Given the description of an element on the screen output the (x, y) to click on. 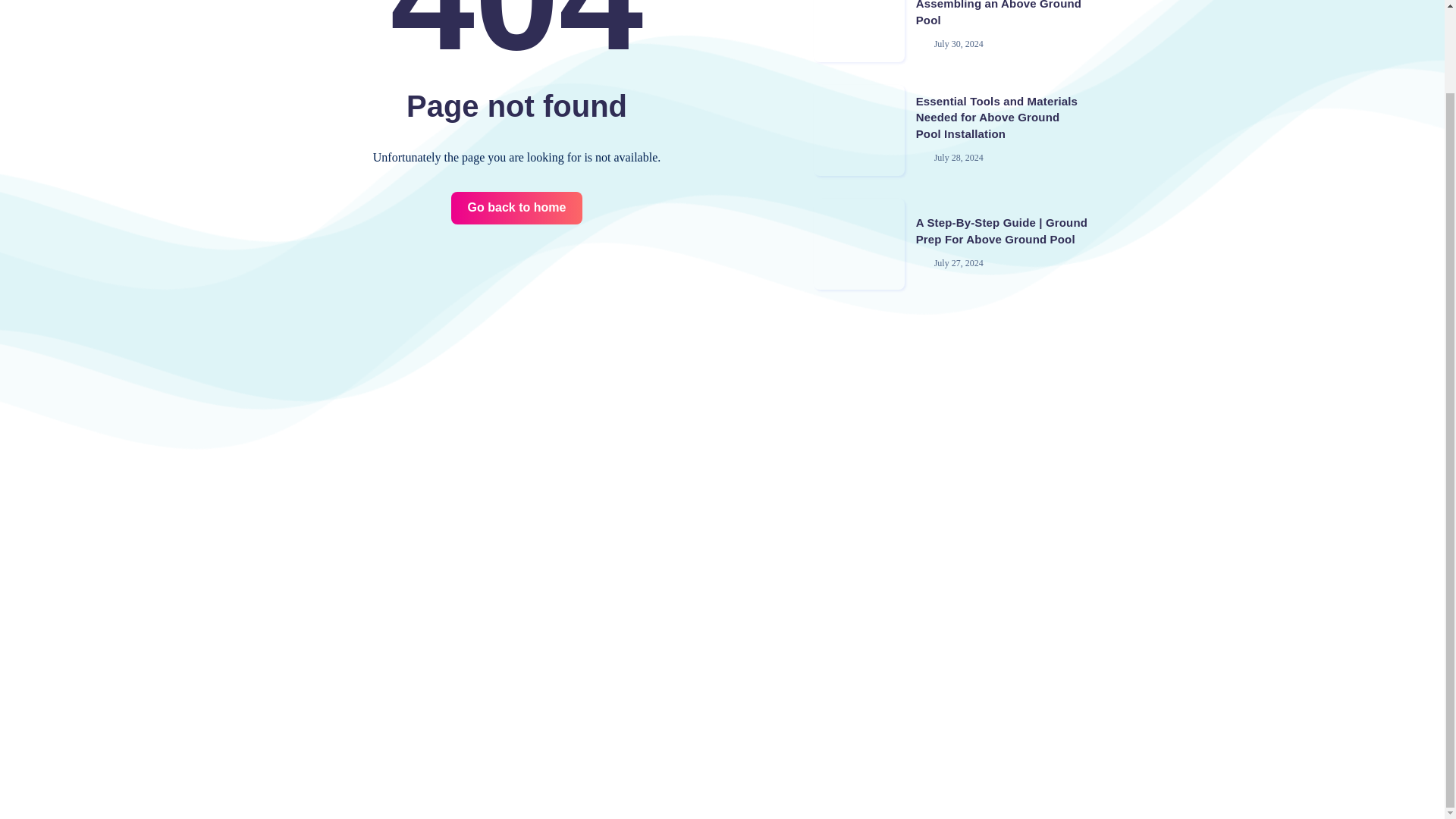
Go back to home (517, 207)
